Given the description of an element on the screen output the (x, y) to click on. 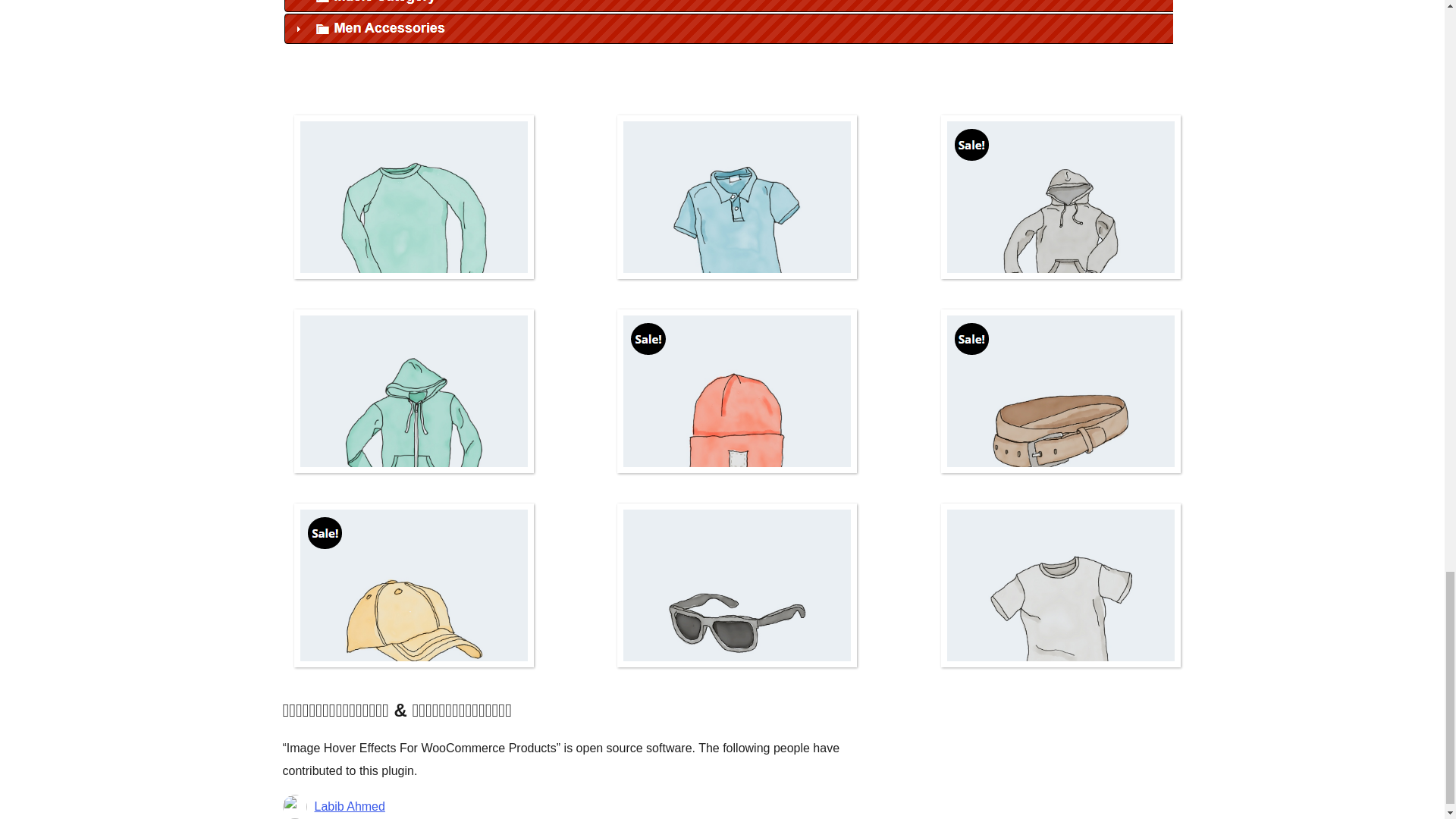
Labib Ahmed (349, 806)
